Given the description of an element on the screen output the (x, y) to click on. 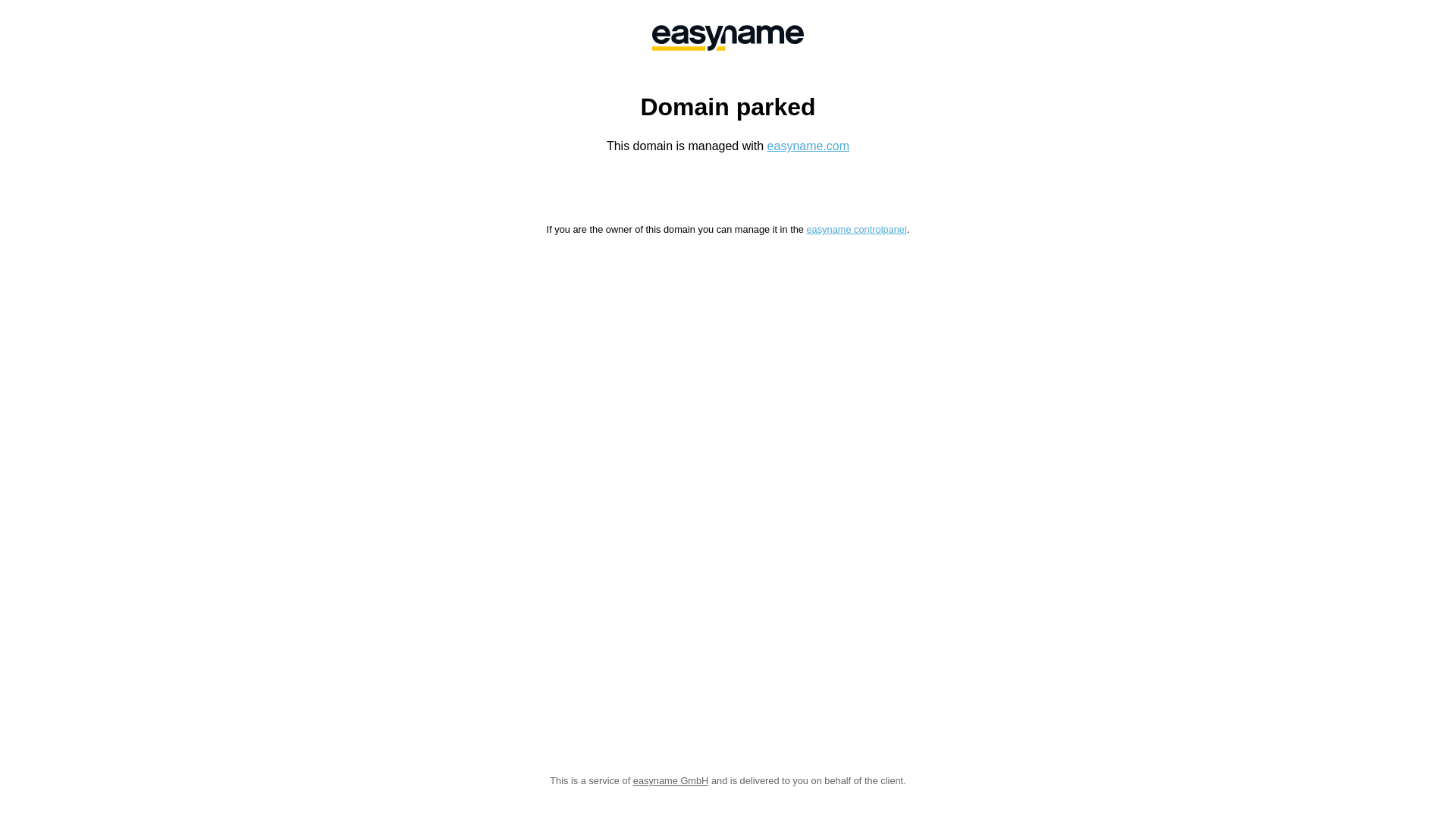
easyname GmbH Element type: hover (727, 37)
easyname GmbH Element type: text (671, 780)
easyname controlpanel Element type: text (856, 229)
easyname.com Element type: text (808, 145)
